Given the description of an element on the screen output the (x, y) to click on. 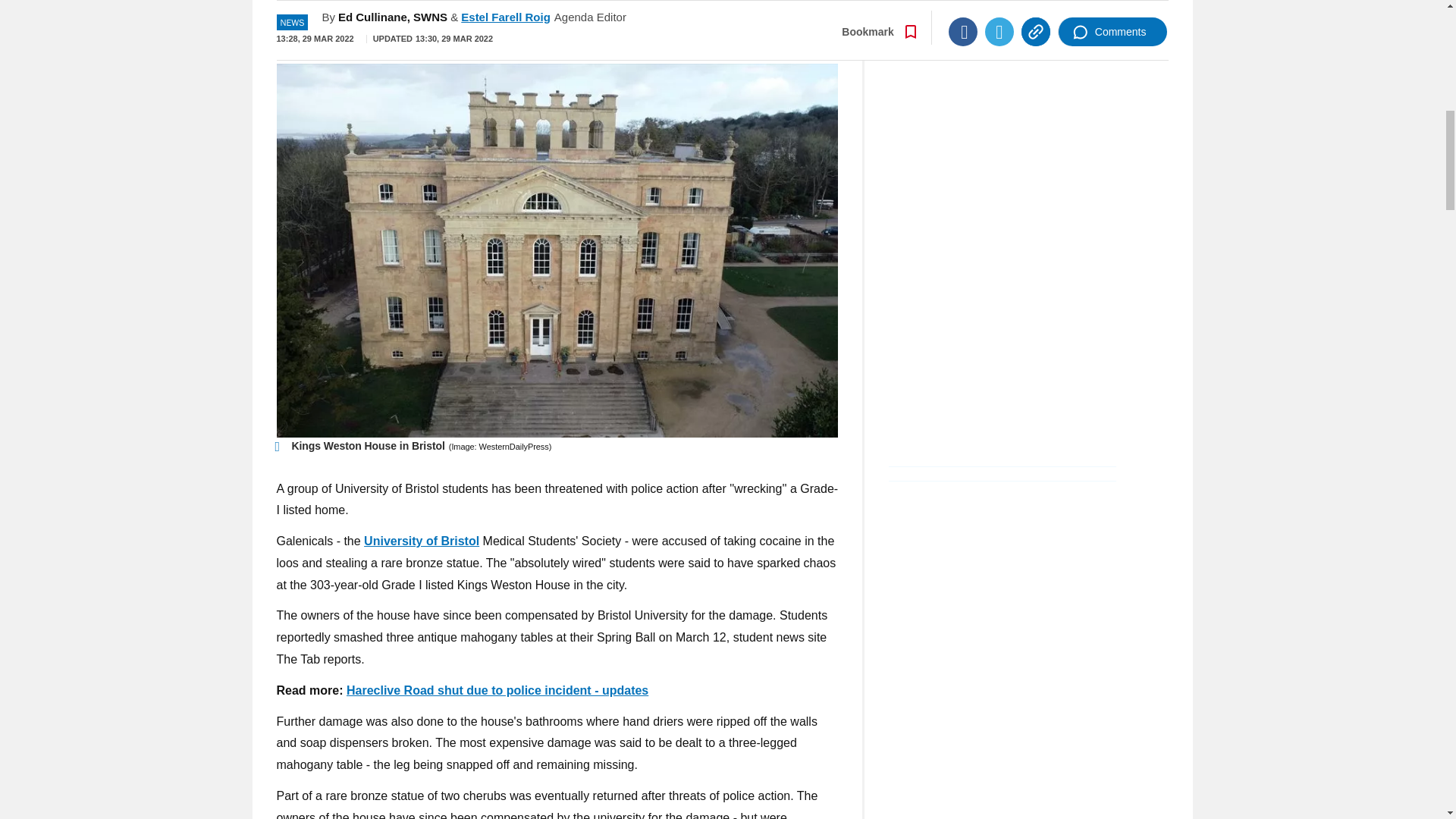
Go (730, 29)
